Given the description of an element on the screen output the (x, y) to click on. 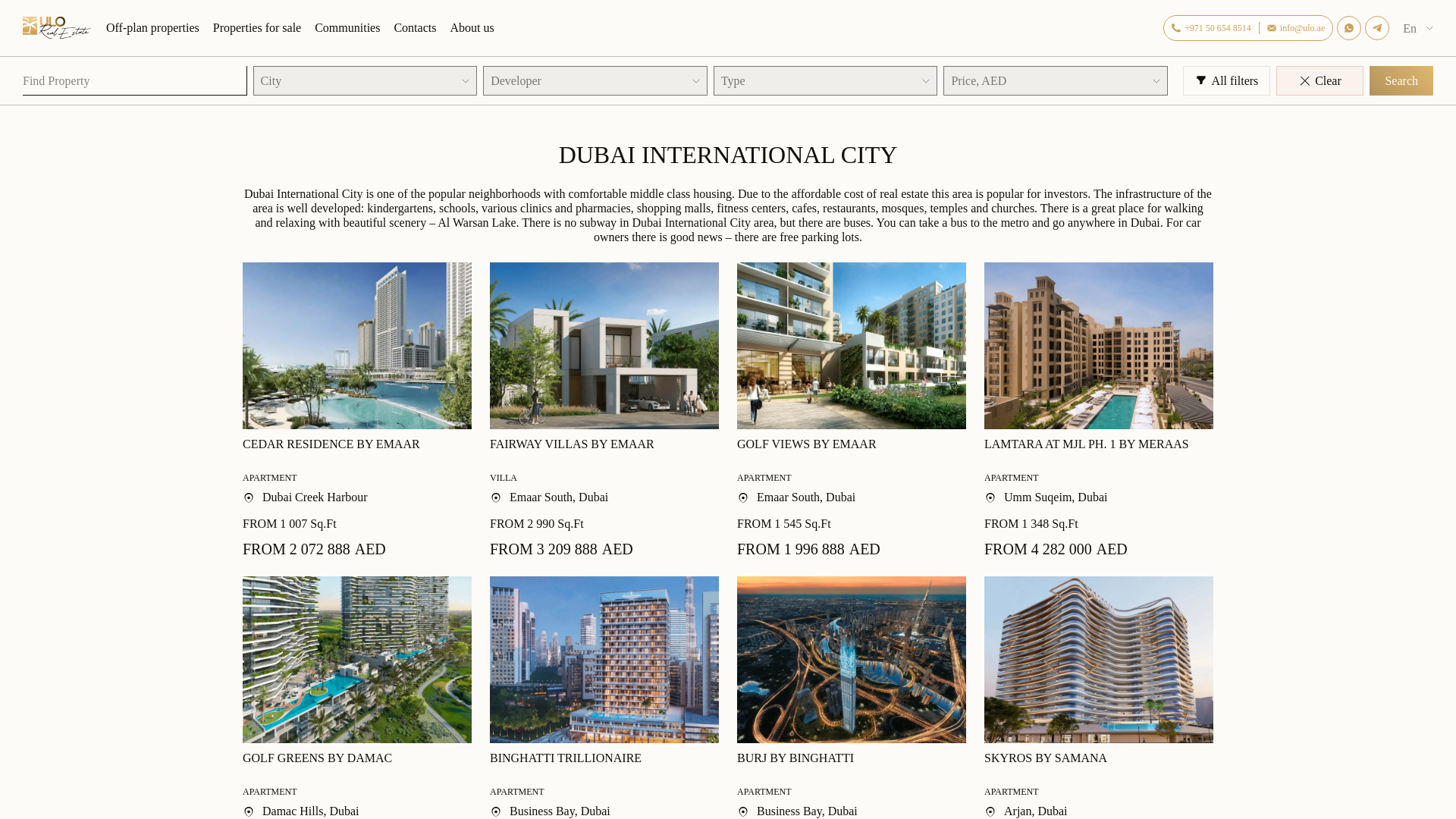
Search (1401, 80)
Properties for sale (256, 27)
All filters (1227, 80)
About us (471, 27)
Contacts (414, 27)
Clear (1319, 80)
